Given the description of an element on the screen output the (x, y) to click on. 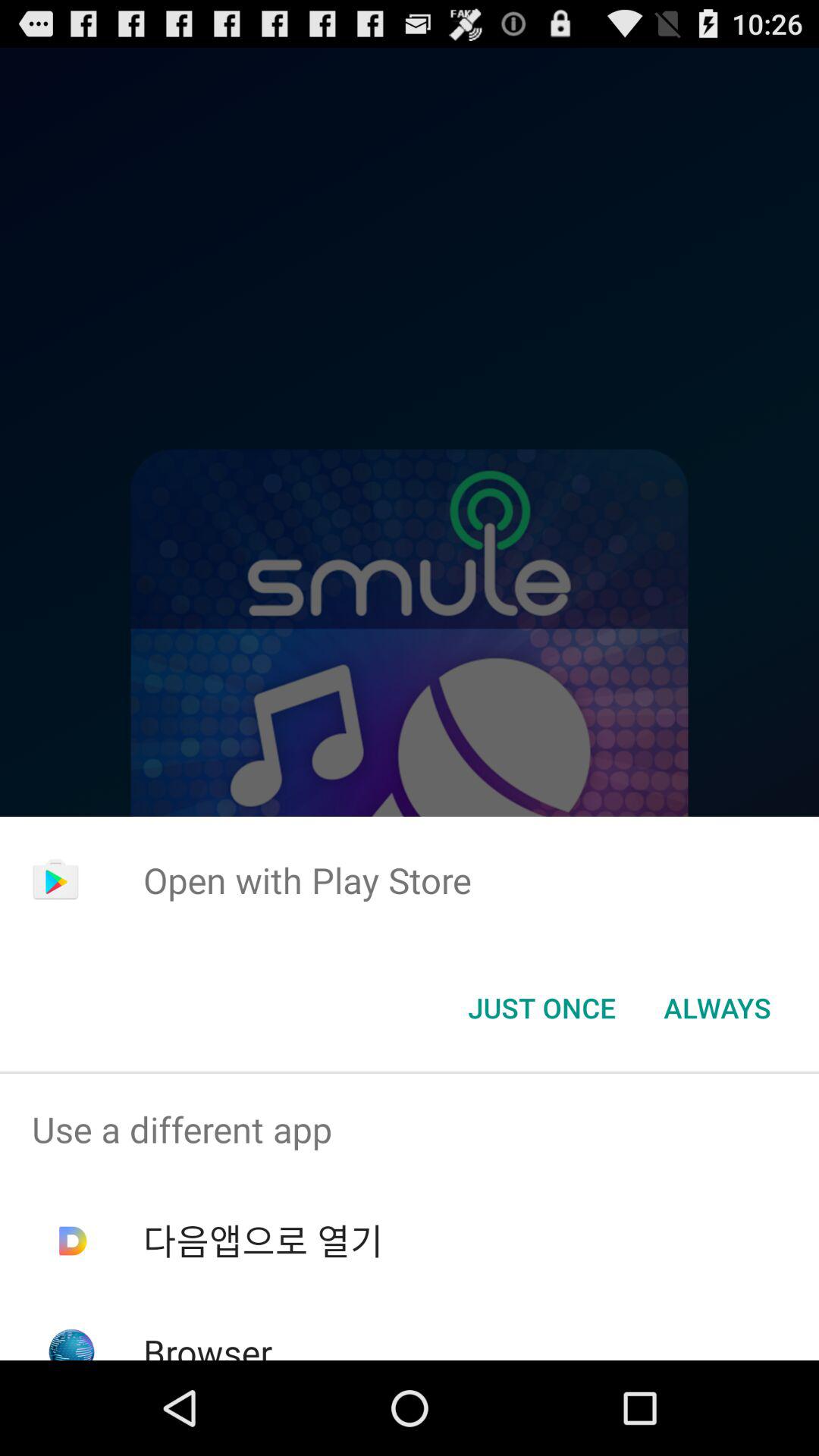
swipe until the just once (541, 1007)
